Given the description of an element on the screen output the (x, y) to click on. 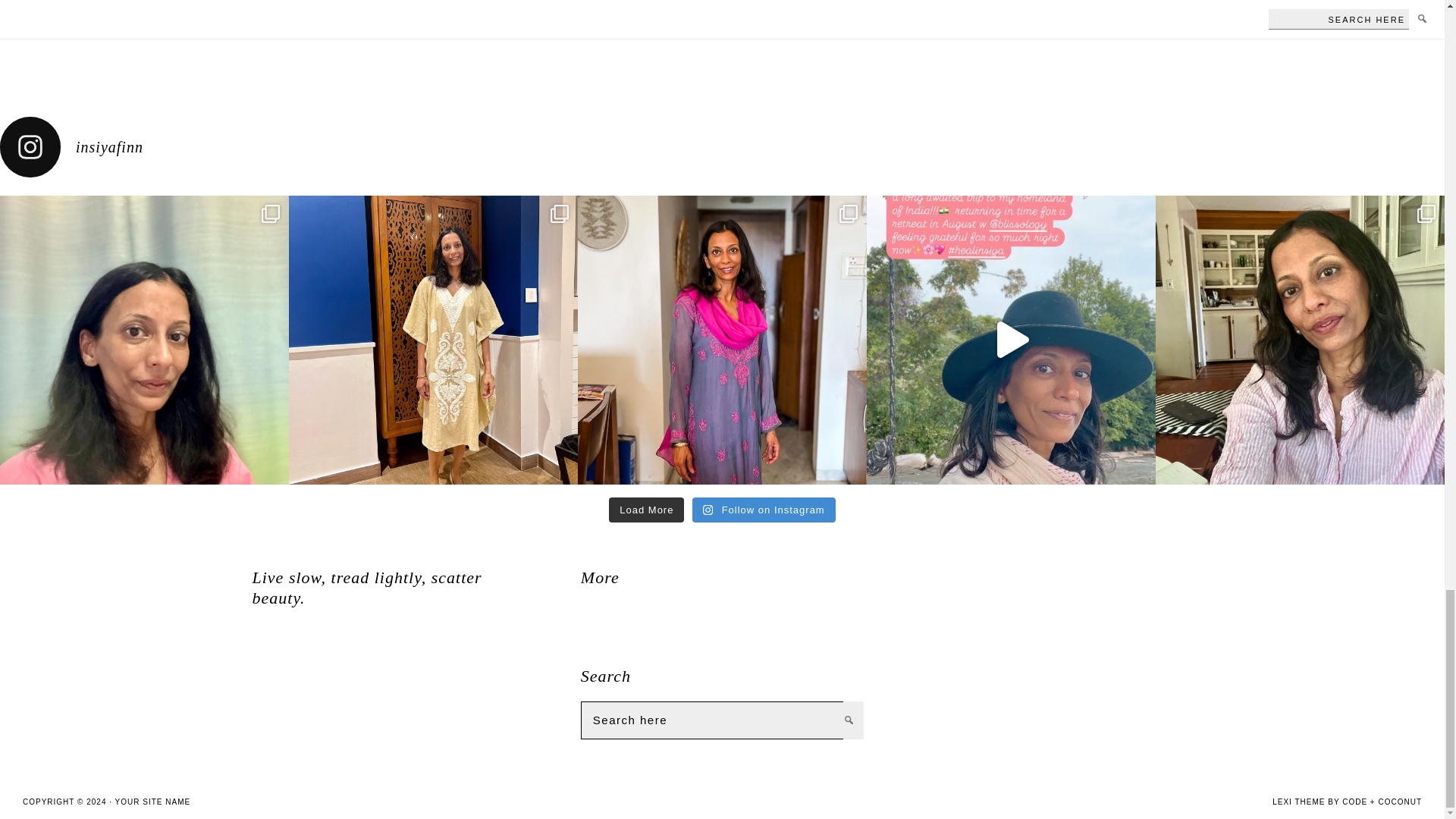
Lexi Theme (1298, 801)
